Given the description of an element on the screen output the (x, y) to click on. 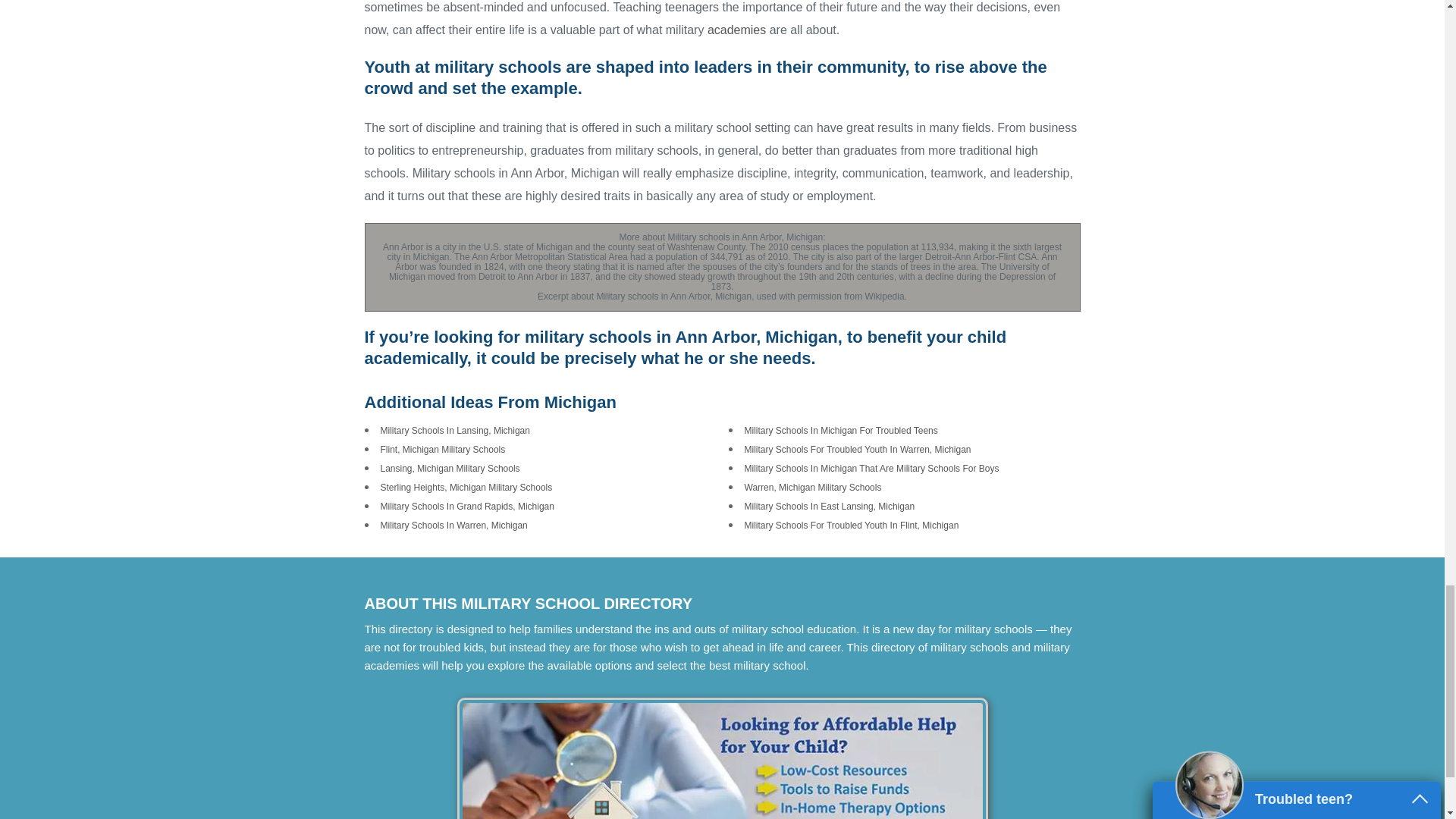
academies (736, 29)
Military Schools In Grand Rapids, Michigan (467, 506)
Military Schools For Troubled Youth In Warren, Michigan (857, 449)
Military Schools In Lansing, Michigan (454, 430)
Military Schools In Warren, Michigan (453, 525)
Military Schools In Michigan For Troubled Teens (840, 430)
Sterling Heights, Michigan Military Schools (466, 487)
Military Schools In East Lansing, Michigan (829, 506)
Military Schools For Troubled Youth In Flint, Michigan (851, 525)
